Given the description of an element on the screen output the (x, y) to click on. 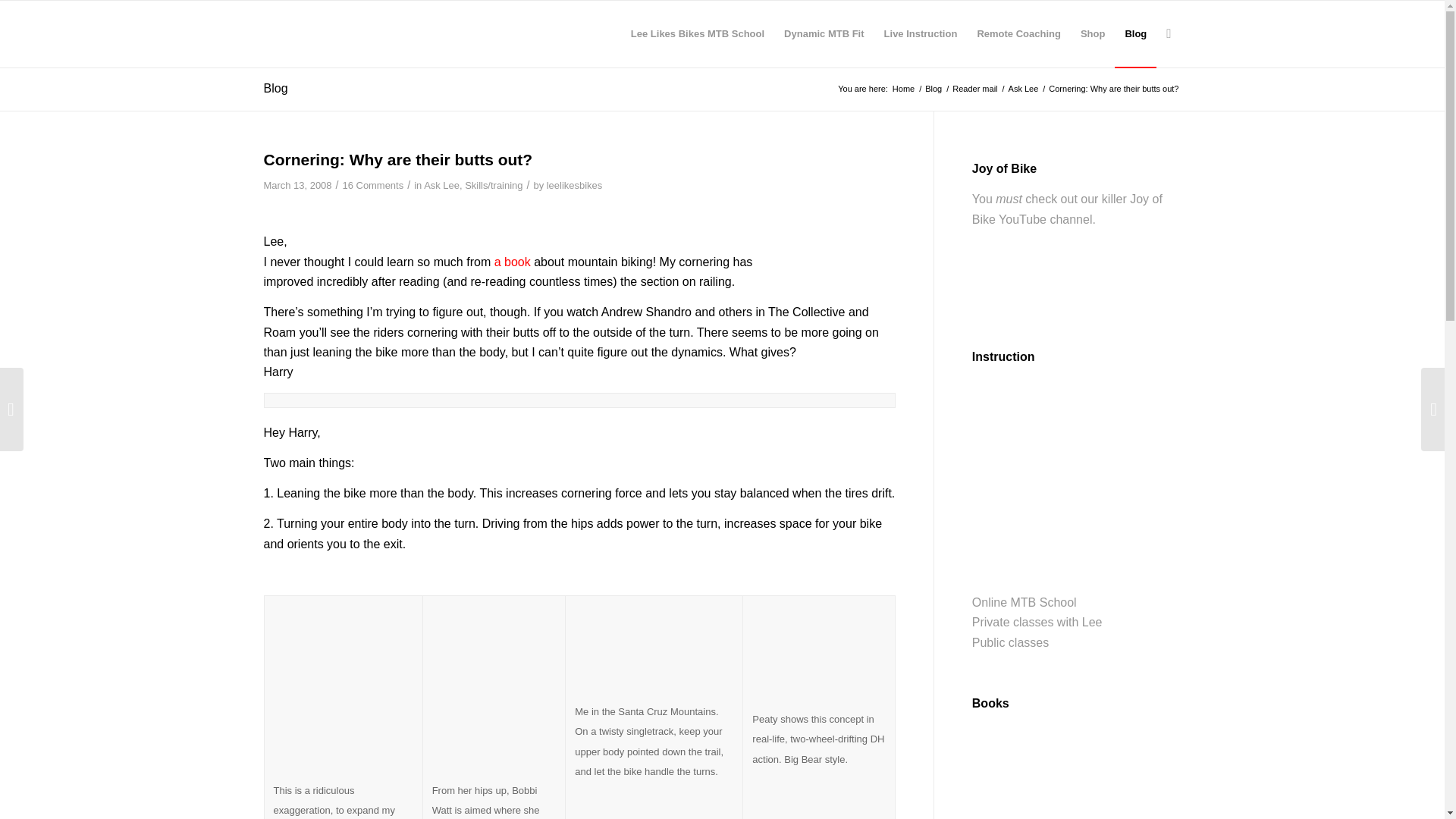
a book (513, 261)
Online MTB School (1024, 602)
Ask Lee (1023, 89)
Blog (933, 89)
Posts by leelikesbikes (574, 184)
Home (903, 89)
Blog (933, 89)
Joy of Bike (1066, 208)
Permanent Link: Blog (275, 88)
Reader mail (974, 89)
